Given the description of an element on the screen output the (x, y) to click on. 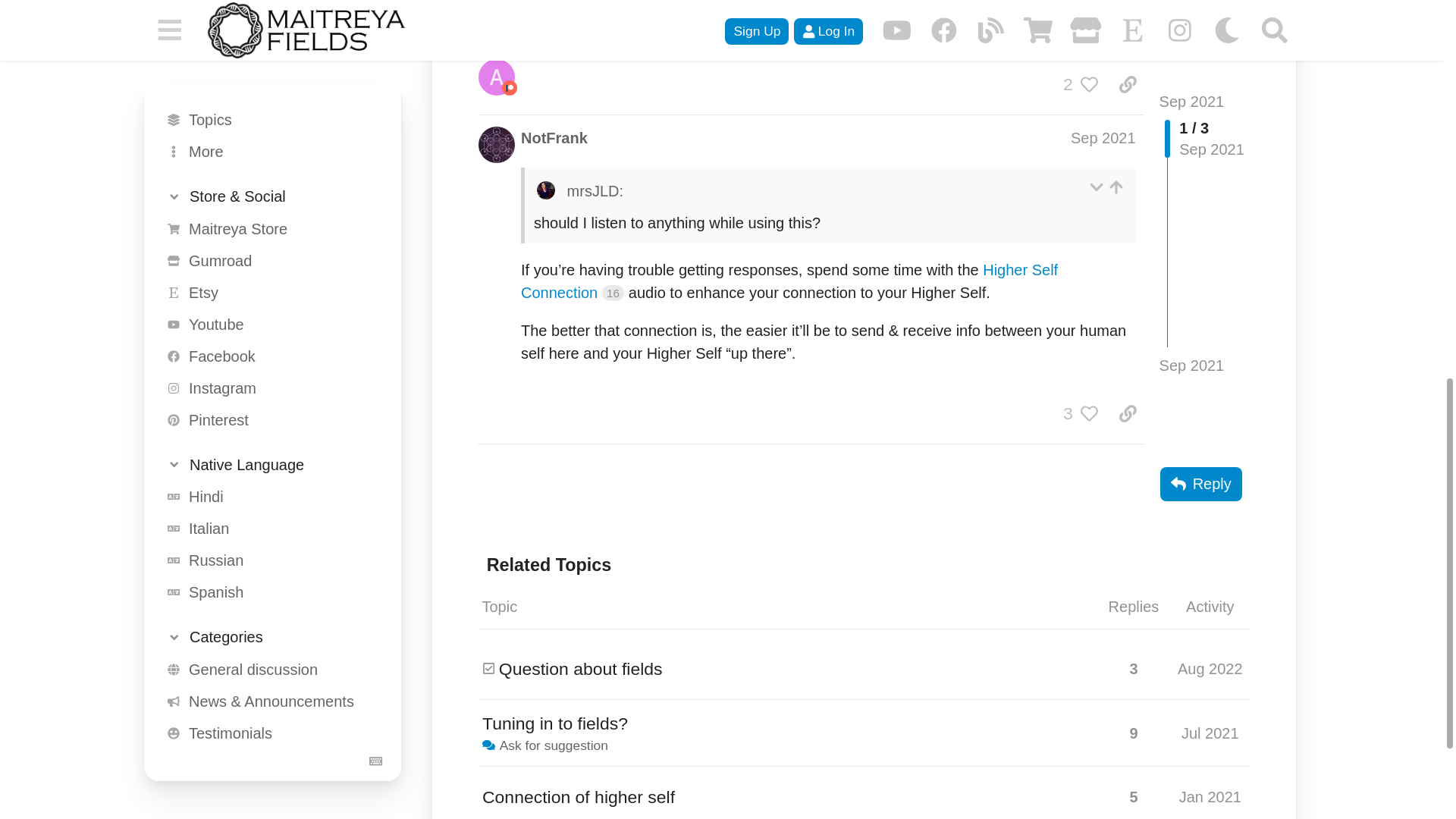
All categories (267, 73)
Ask for suggestion (267, 41)
Items Fields (267, 12)
